Given the description of an element on the screen output the (x, y) to click on. 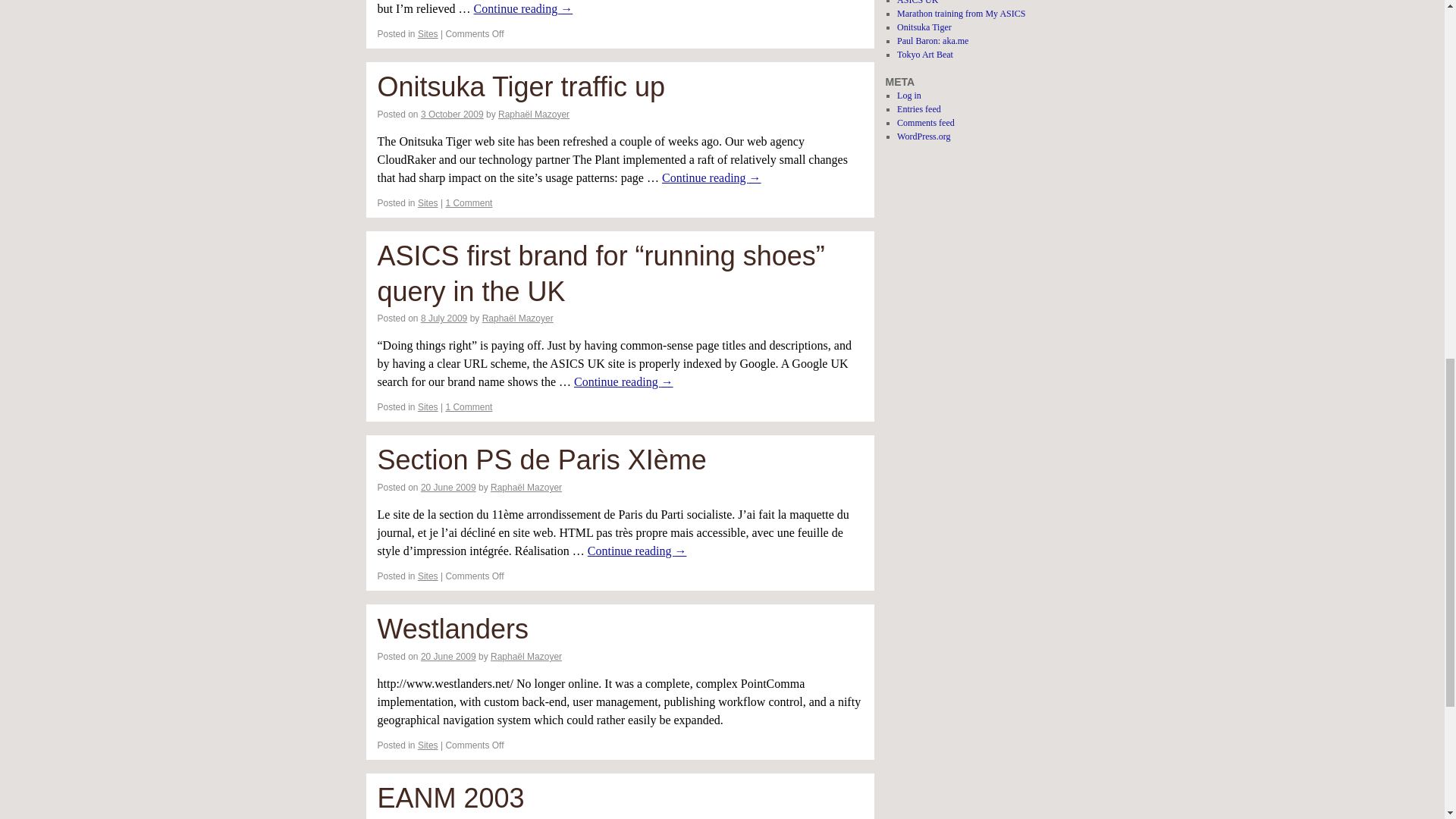
Onitsuka Tiger traffic up (521, 86)
8 July 2009 (443, 317)
1 Comment (468, 407)
20 June 2009 (448, 487)
3 October 2009 (451, 113)
Sites (427, 407)
1 Comment (468, 203)
Sites (427, 203)
Sites (427, 33)
